Given the description of an element on the screen output the (x, y) to click on. 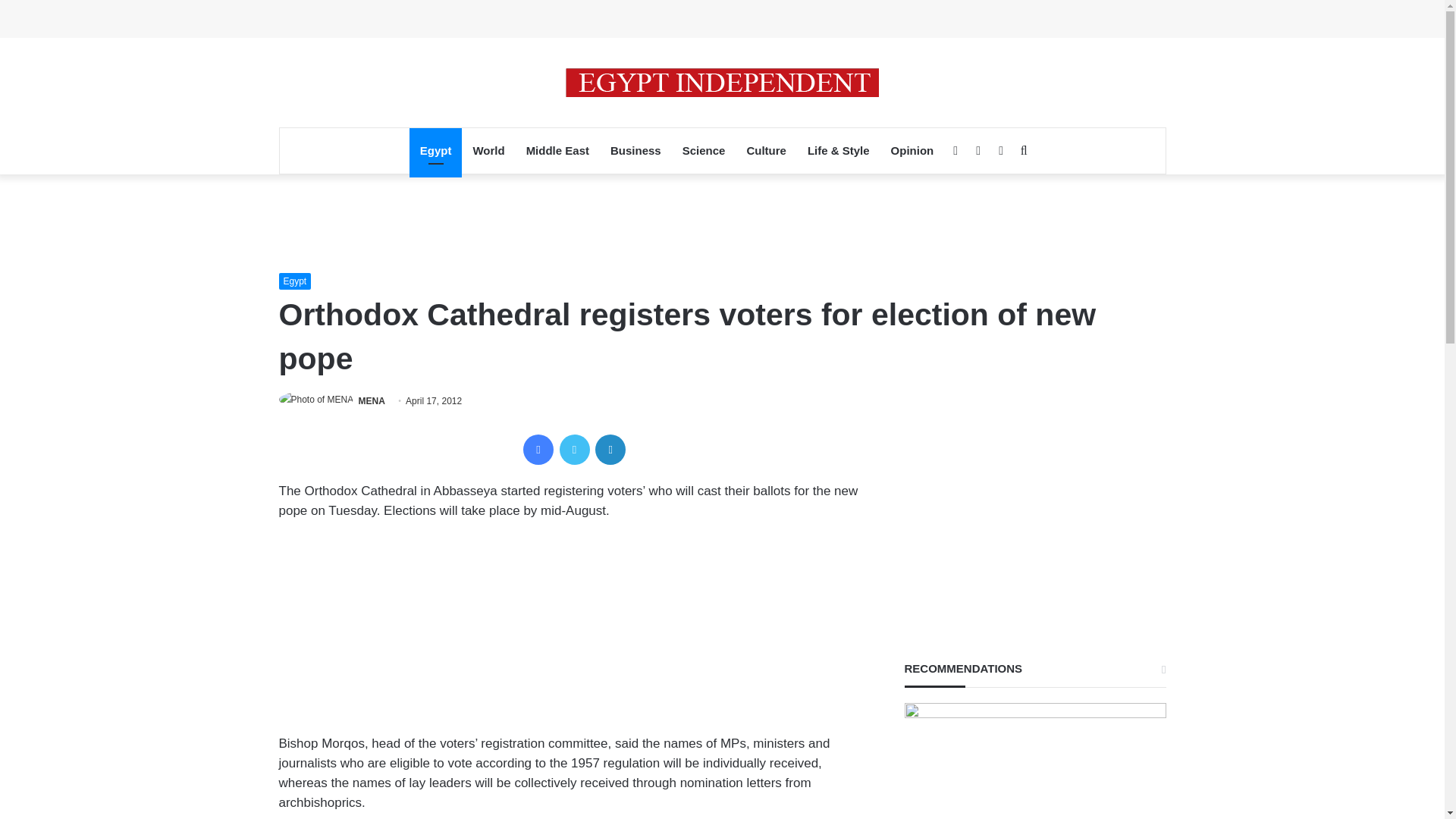
LinkedIn (610, 449)
Facebook (537, 449)
Egypt Independent (722, 82)
Science (703, 150)
Twitter (574, 449)
LinkedIn (610, 449)
Middle East (557, 150)
Twitter (574, 449)
Facebook (537, 449)
MENA (371, 400)
